Given the description of an element on the screen output the (x, y) to click on. 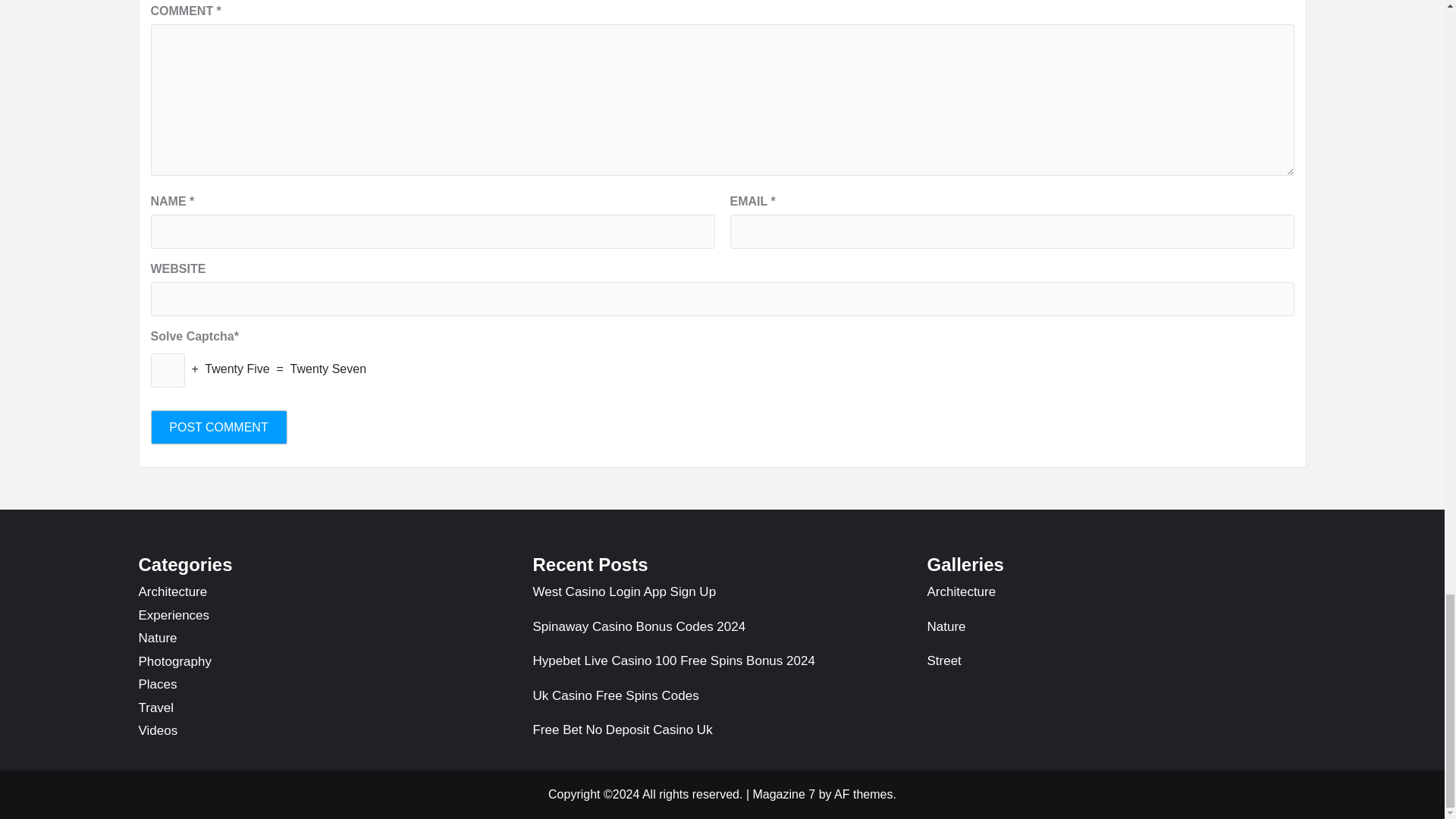
West Casino Login App Sign Up (721, 597)
Architecture (172, 591)
Magazine 7 (783, 793)
Post Comment (217, 427)
Travel (155, 707)
Architecture (1116, 597)
Photography (174, 661)
Videos (157, 730)
Experiences (173, 615)
Free Bet No Deposit Casino Uk (721, 730)
Uk Casino Free Spins Codes (721, 701)
Spinaway Casino Bonus Codes 2024 (721, 632)
Street (1116, 660)
Hypebet Live Casino 100 Free Spins Bonus 2024 (721, 666)
Nature (157, 637)
